Given the description of an element on the screen output the (x, y) to click on. 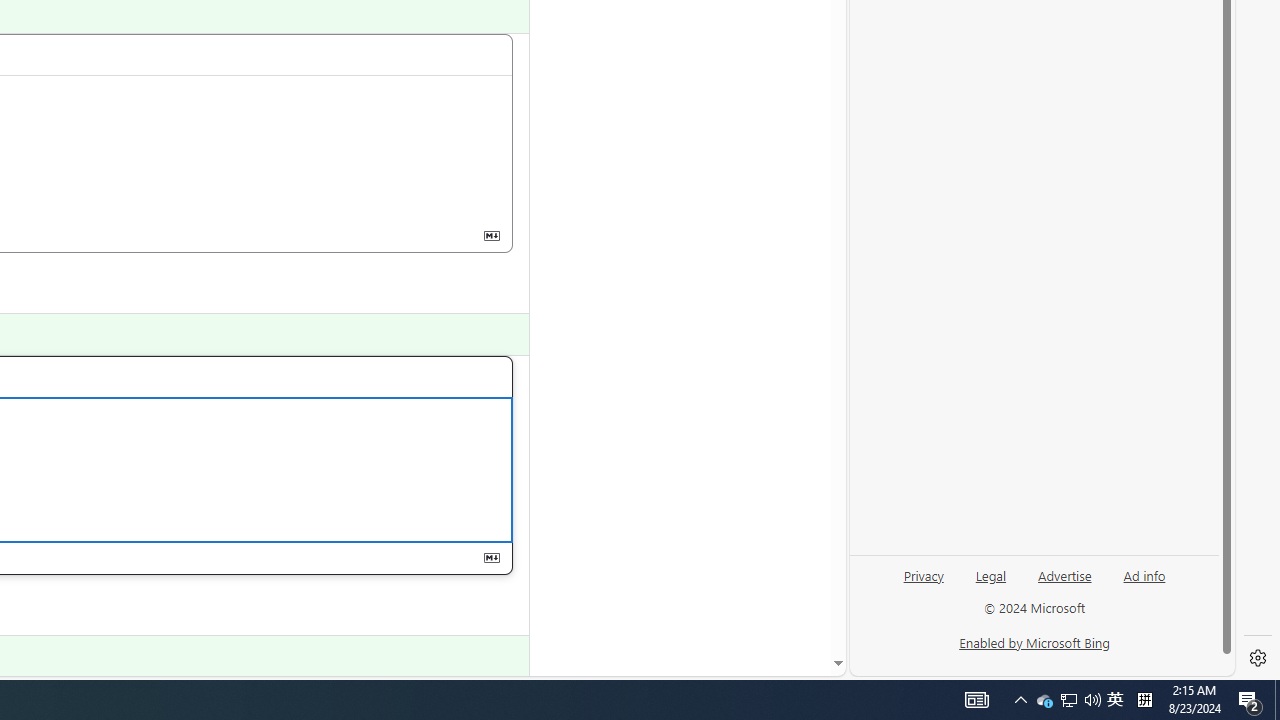
Class: s16 gl-icon gl-button-icon  (491, 556)
